Given the description of an element on the screen output the (x, y) to click on. 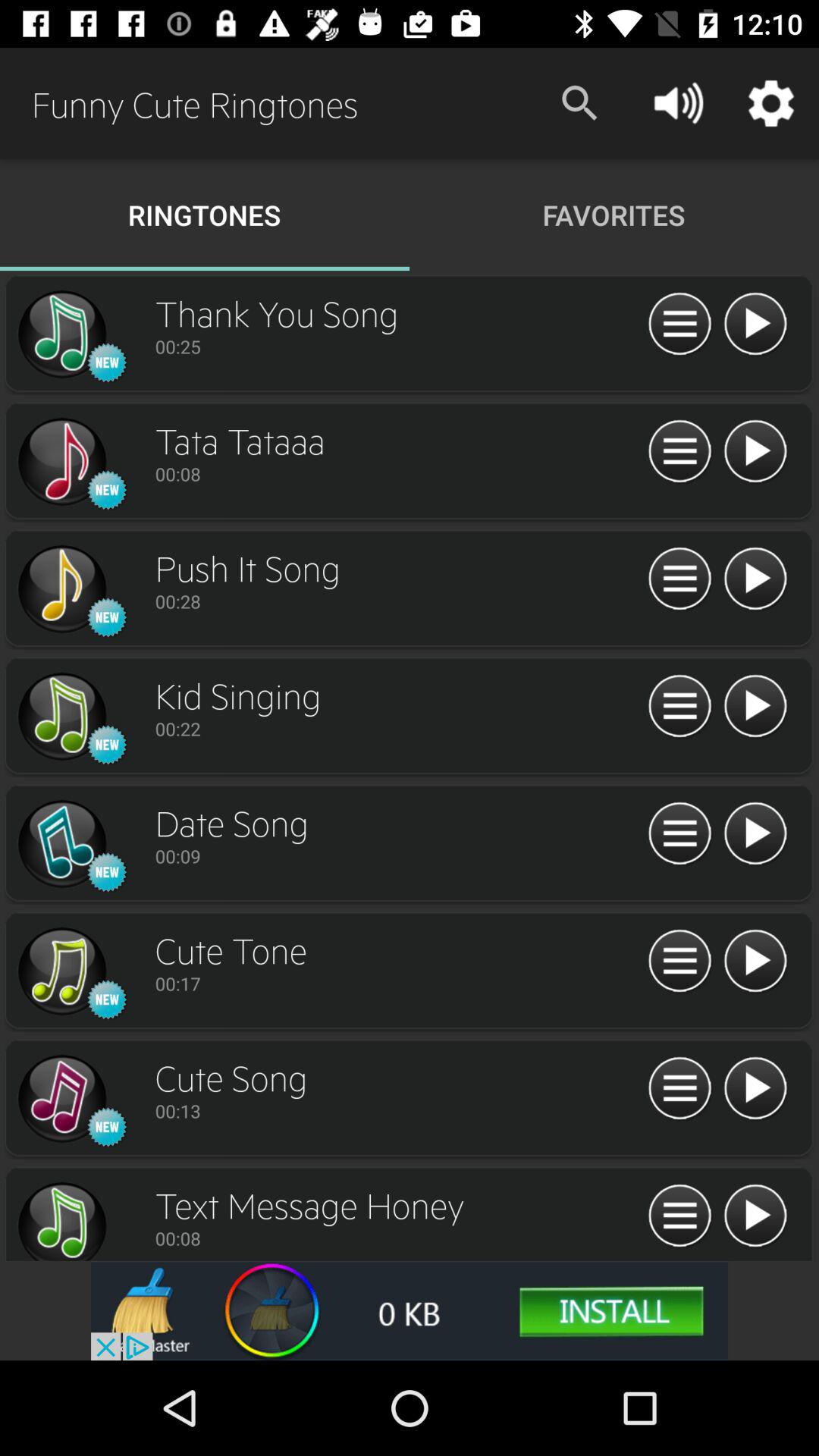
play song (755, 1088)
